Given the description of an element on the screen output the (x, y) to click on. 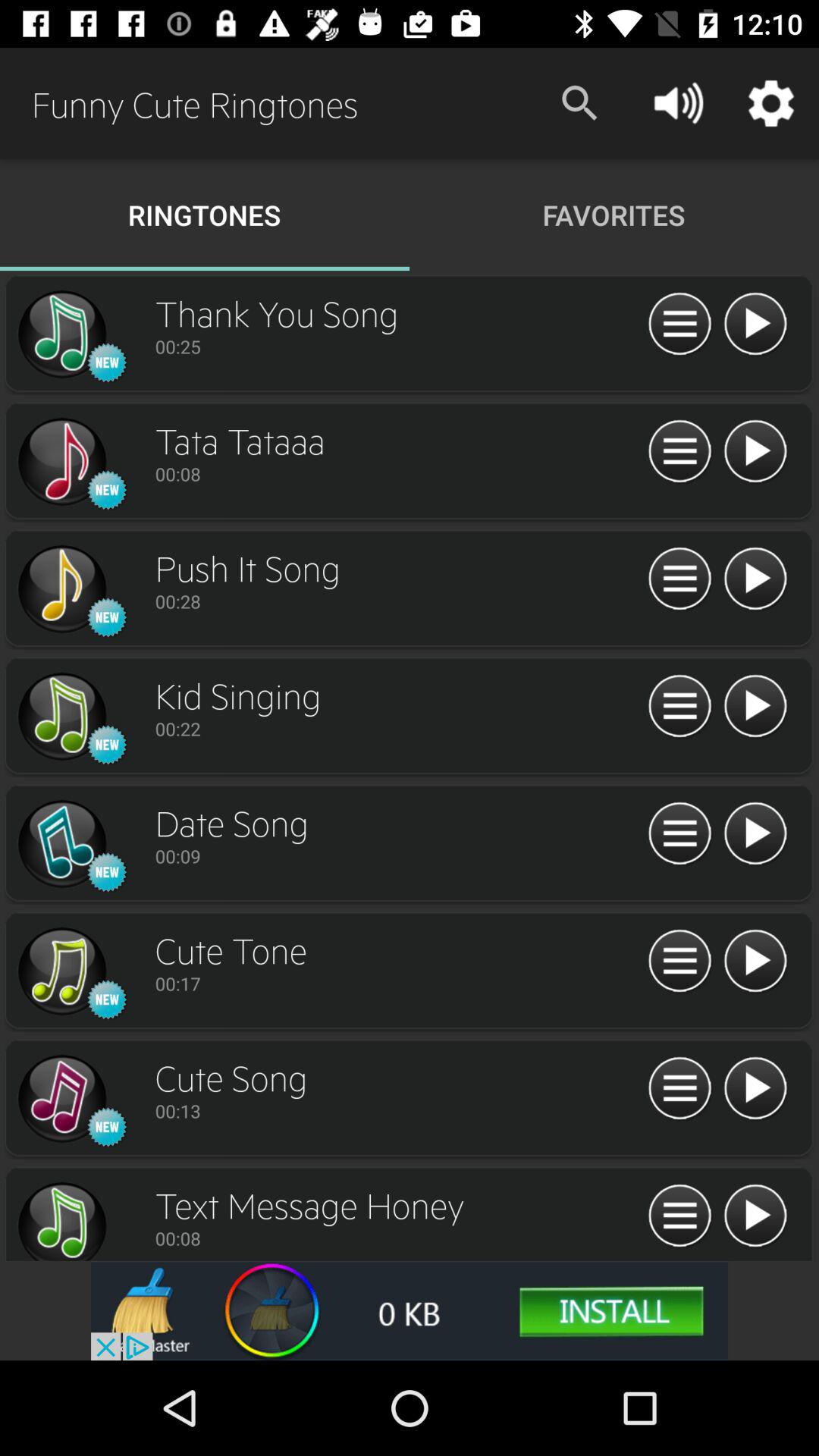
play song (755, 1088)
